Given the description of an element on the screen output the (x, y) to click on. 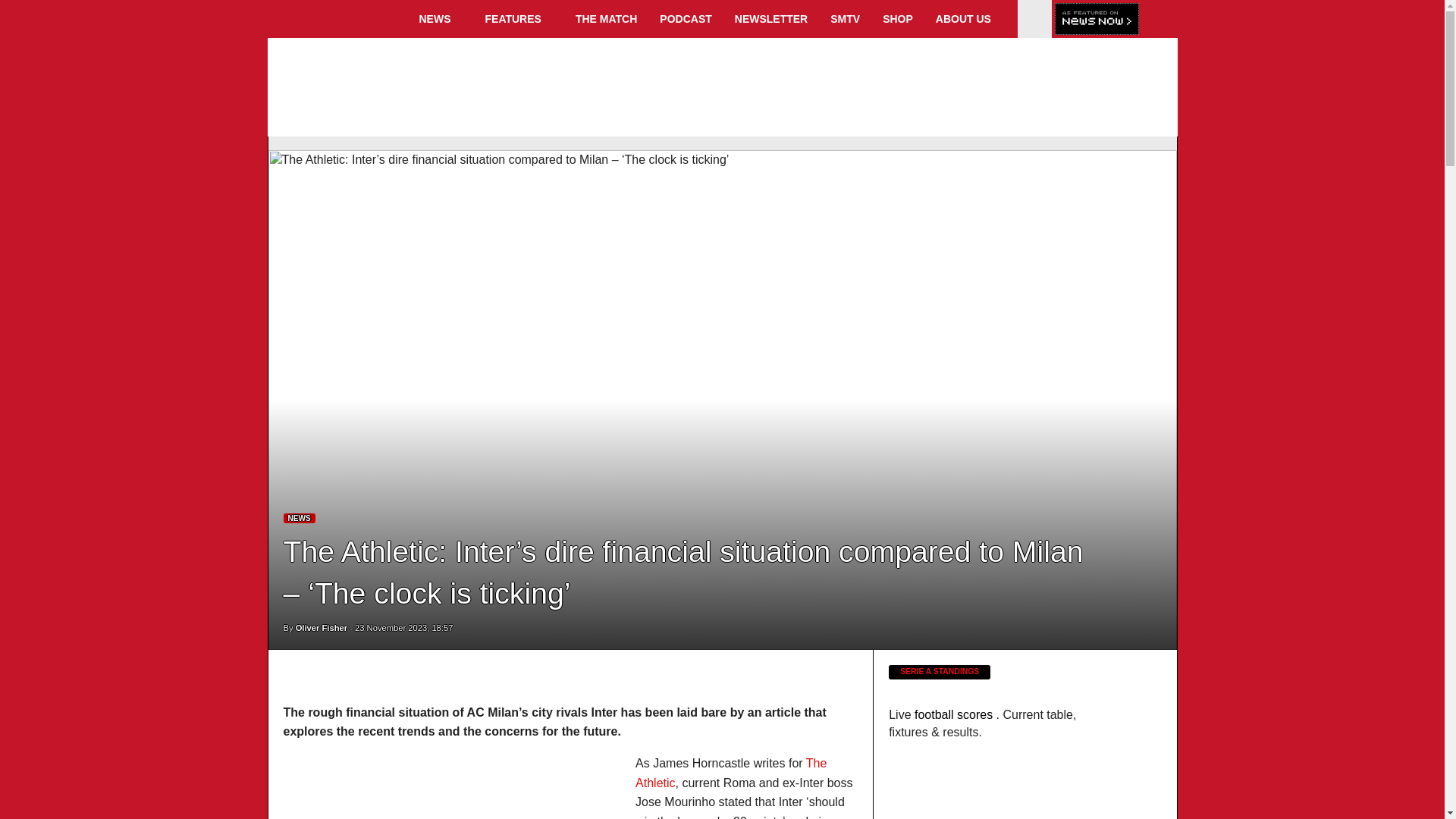
Visit our Italian language site (1034, 27)
Search (1160, 18)
NEWS (440, 18)
Click here for more AC Milan news from NewsNow (1096, 19)
NEWSLETTER (770, 18)
Currently viewing our English language site (1034, 10)
HOME (338, 18)
ABOUT US (968, 18)
SMTV (844, 18)
Latest News News (299, 518)
